Given the description of an element on the screen output the (x, y) to click on. 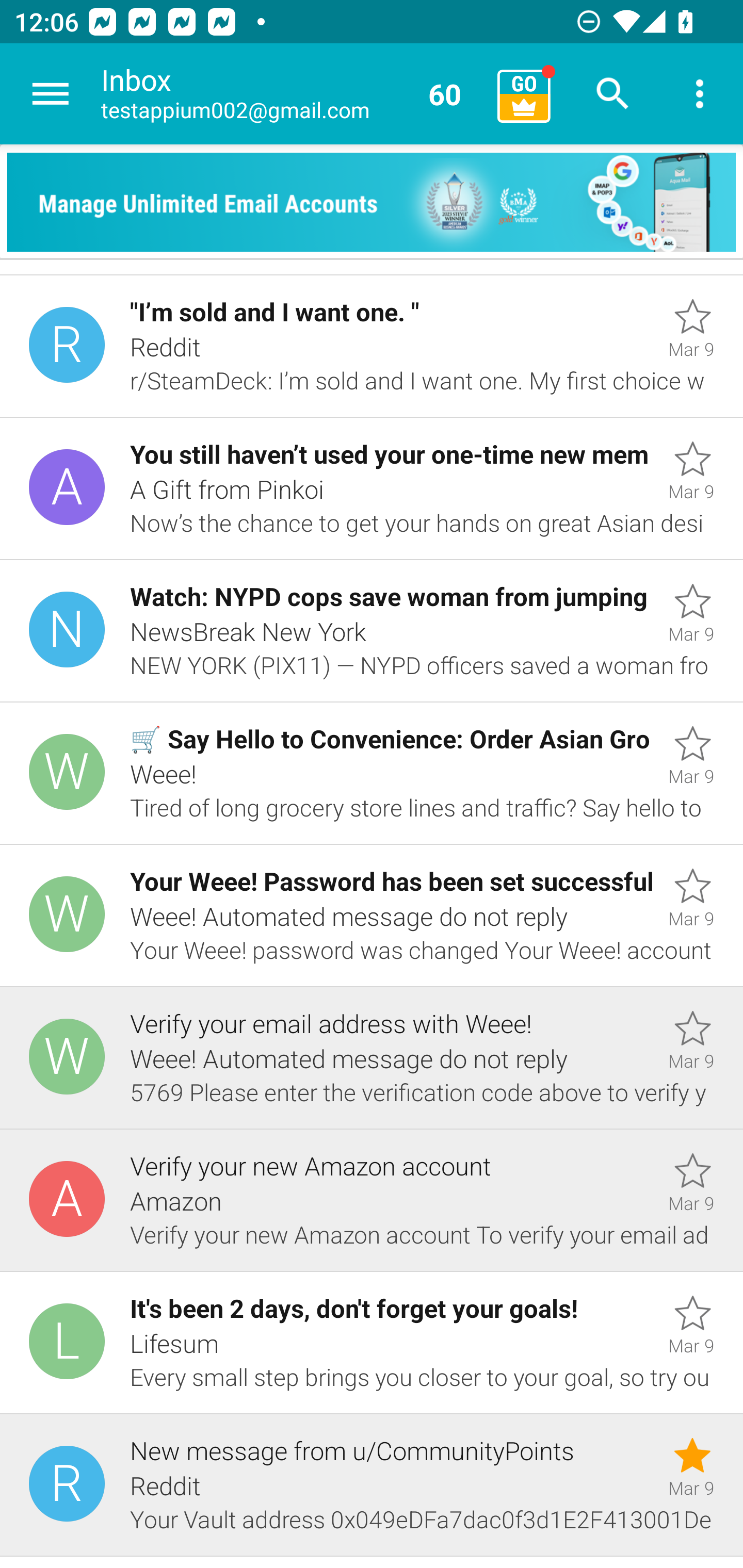
Navigate up (50, 93)
Inbox testappium002@gmail.com 60 (291, 93)
Search (612, 93)
More options (699, 93)
